Given the description of an element on the screen output the (x, y) to click on. 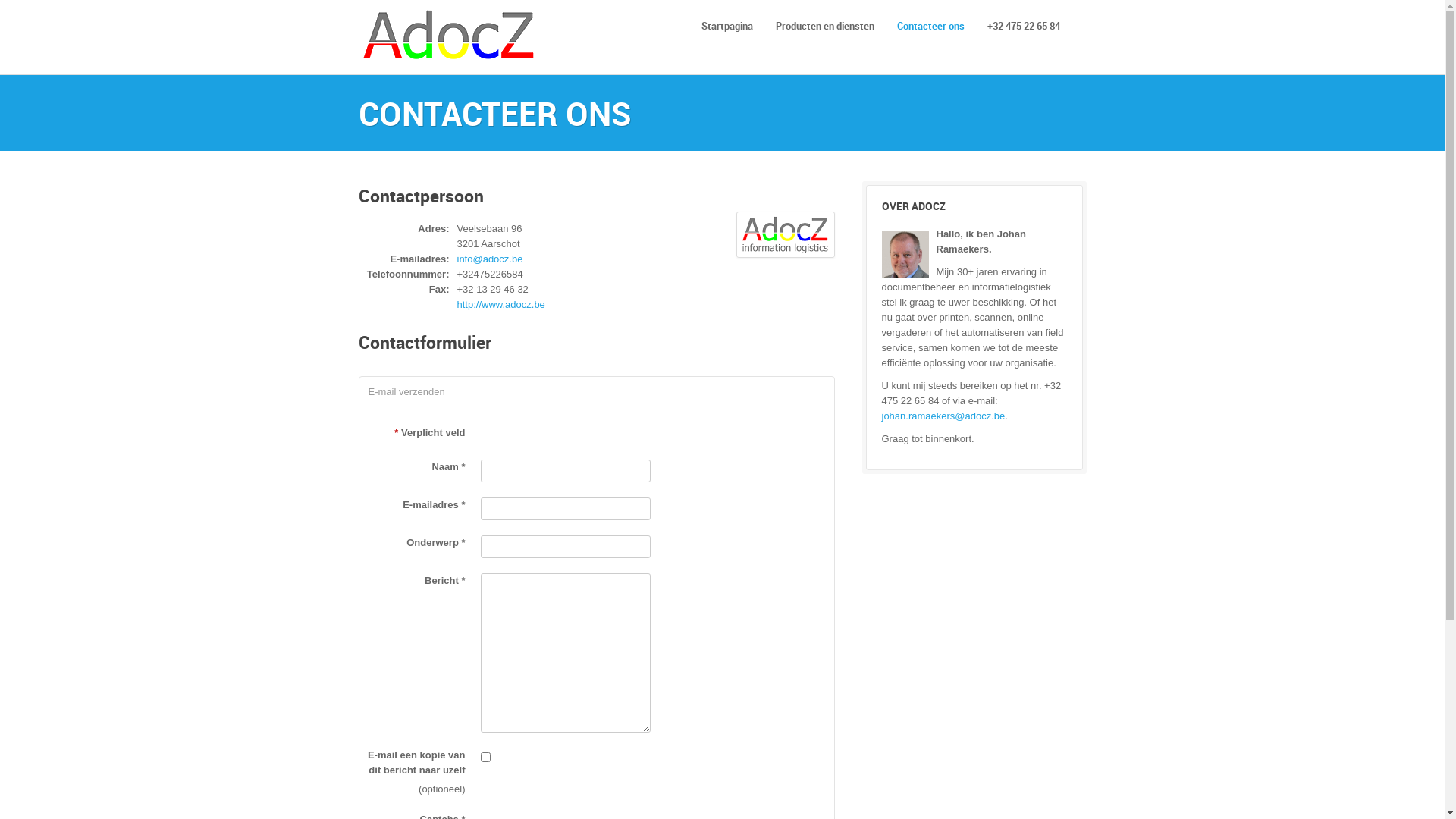
AdocZ Element type: hover (452, 36)
+32 475 22 65 84 Element type: text (1022, 25)
info@adocz.be Element type: text (489, 258)
http://www.adocz.be Element type: text (500, 304)
johan.ramaekers@adocz.be Element type: text (942, 415)
Producten en diensten Element type: text (824, 25)
Startpagina Element type: text (727, 25)
Contacteer ons Element type: text (930, 25)
